Given the description of an element on the screen output the (x, y) to click on. 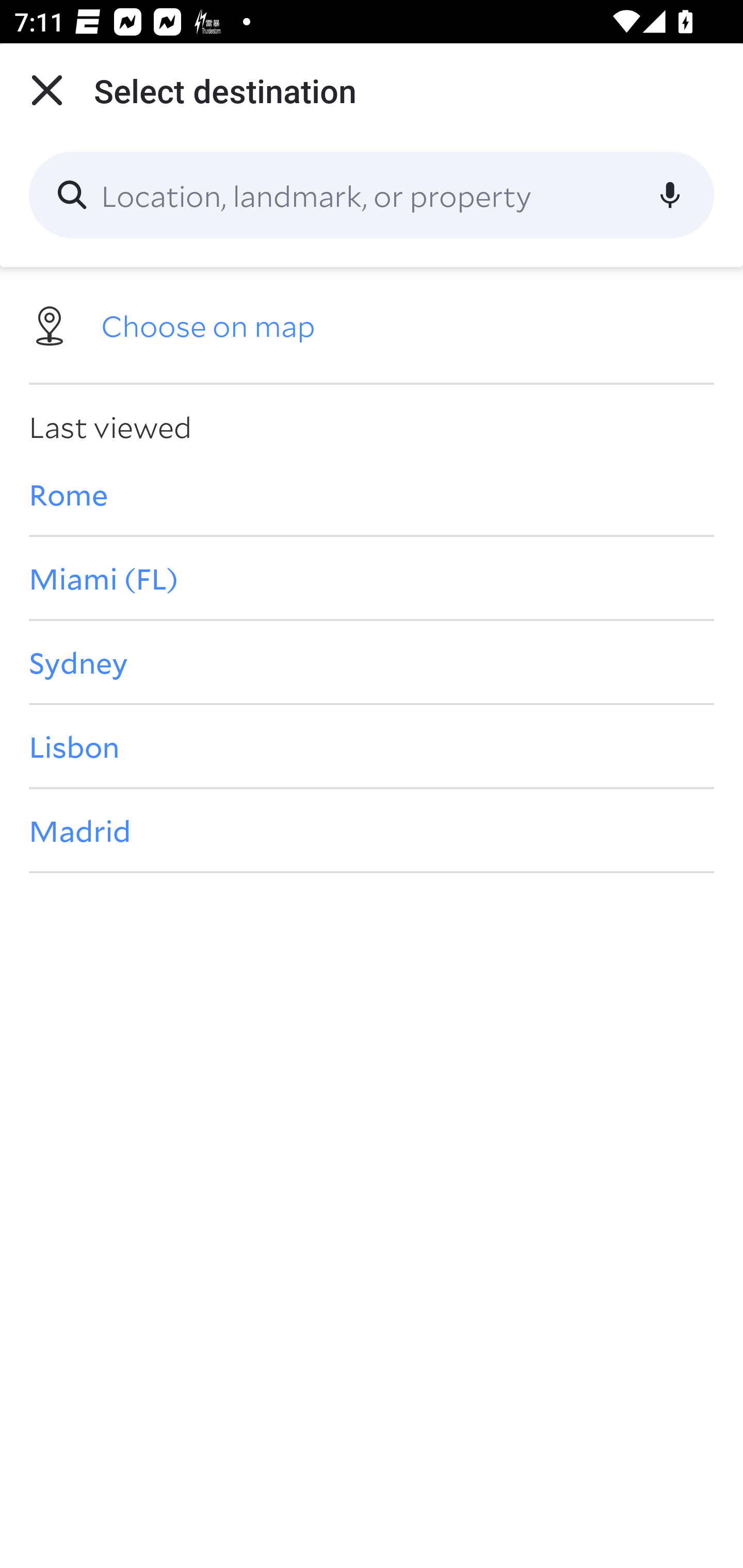
Location, landmark, or property (371, 195)
Choose on map (371, 324)
Rome (371, 493)
Miami (FL) (371, 577)
Sydney (371, 661)
Lisbon (371, 746)
Madrid (371, 829)
